Given the description of an element on the screen output the (x, y) to click on. 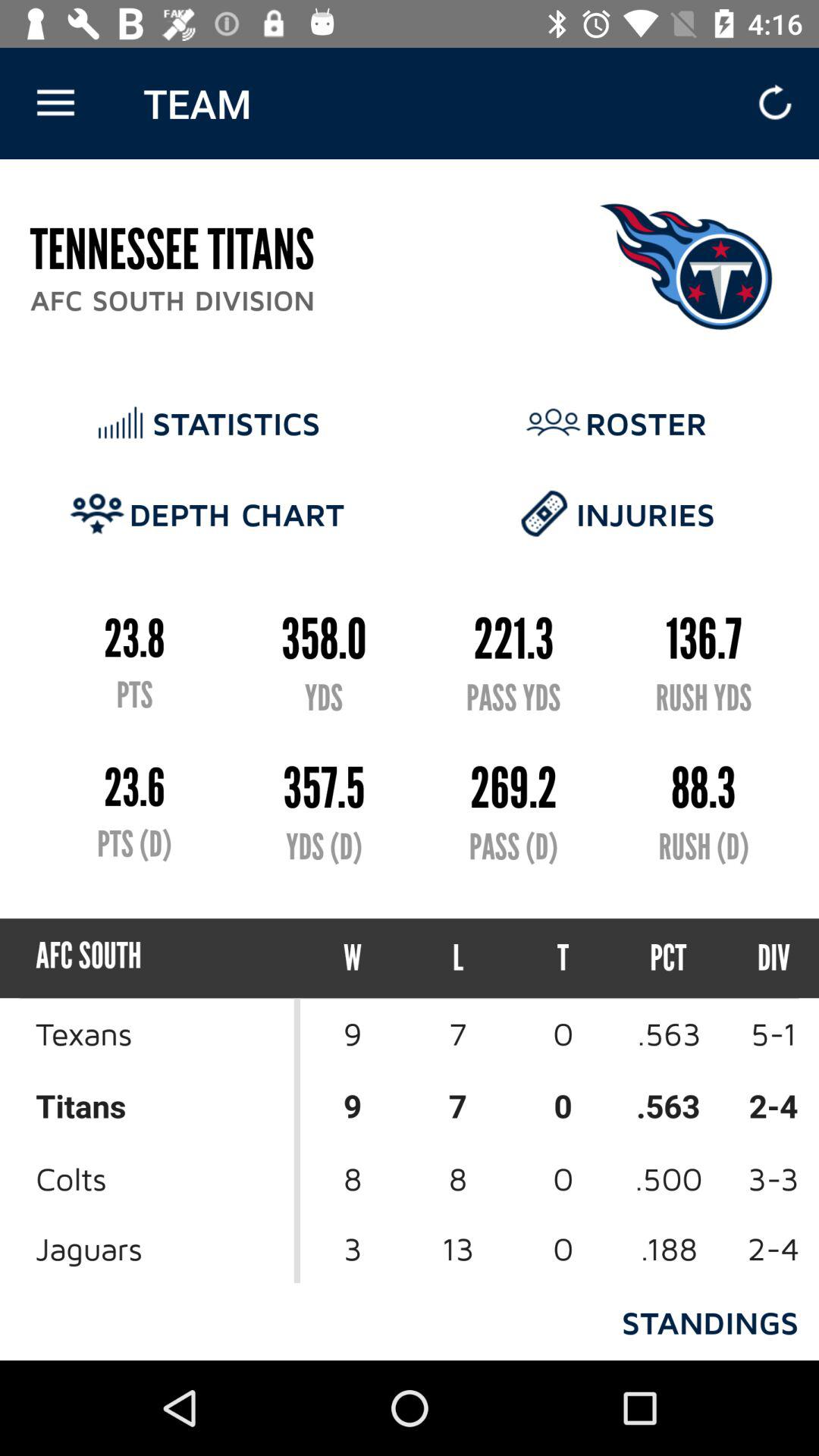
jump to the div icon (760, 958)
